Given the description of an element on the screen output the (x, y) to click on. 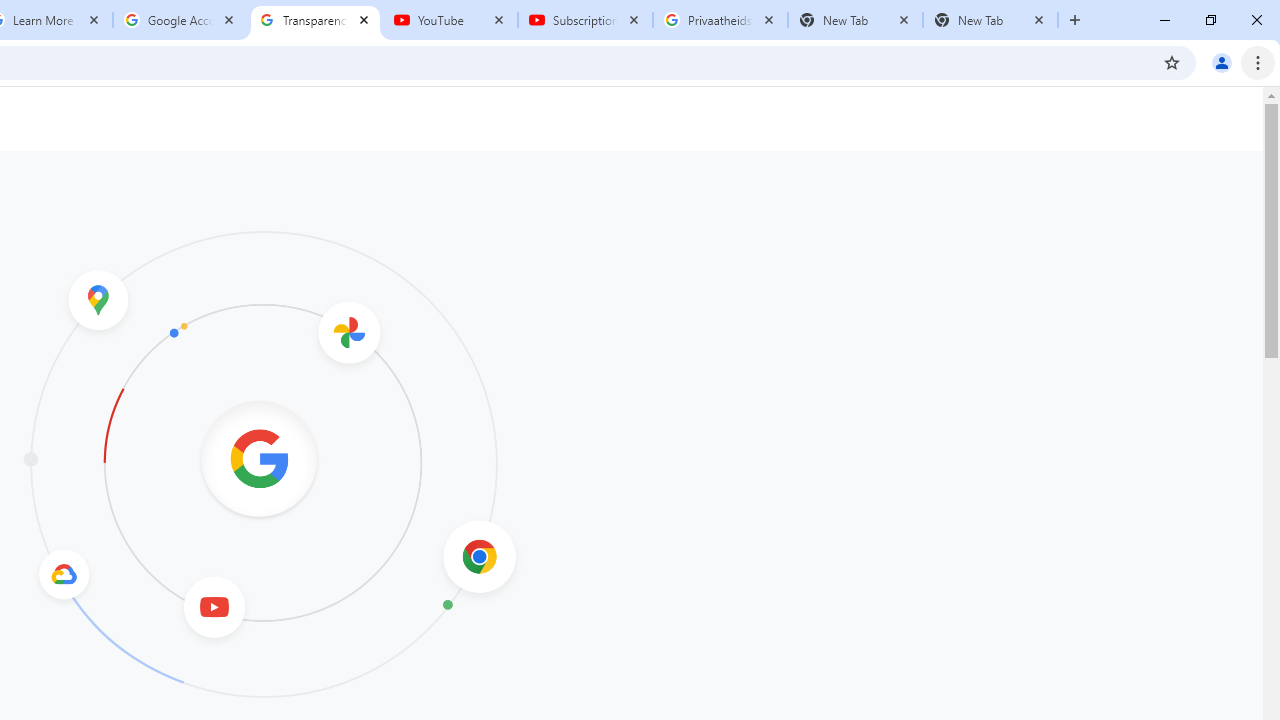
Google Account (180, 20)
Subscriptions - YouTube (585, 20)
YouTube (450, 20)
New Tab (990, 20)
